Given the description of an element on the screen output the (x, y) to click on. 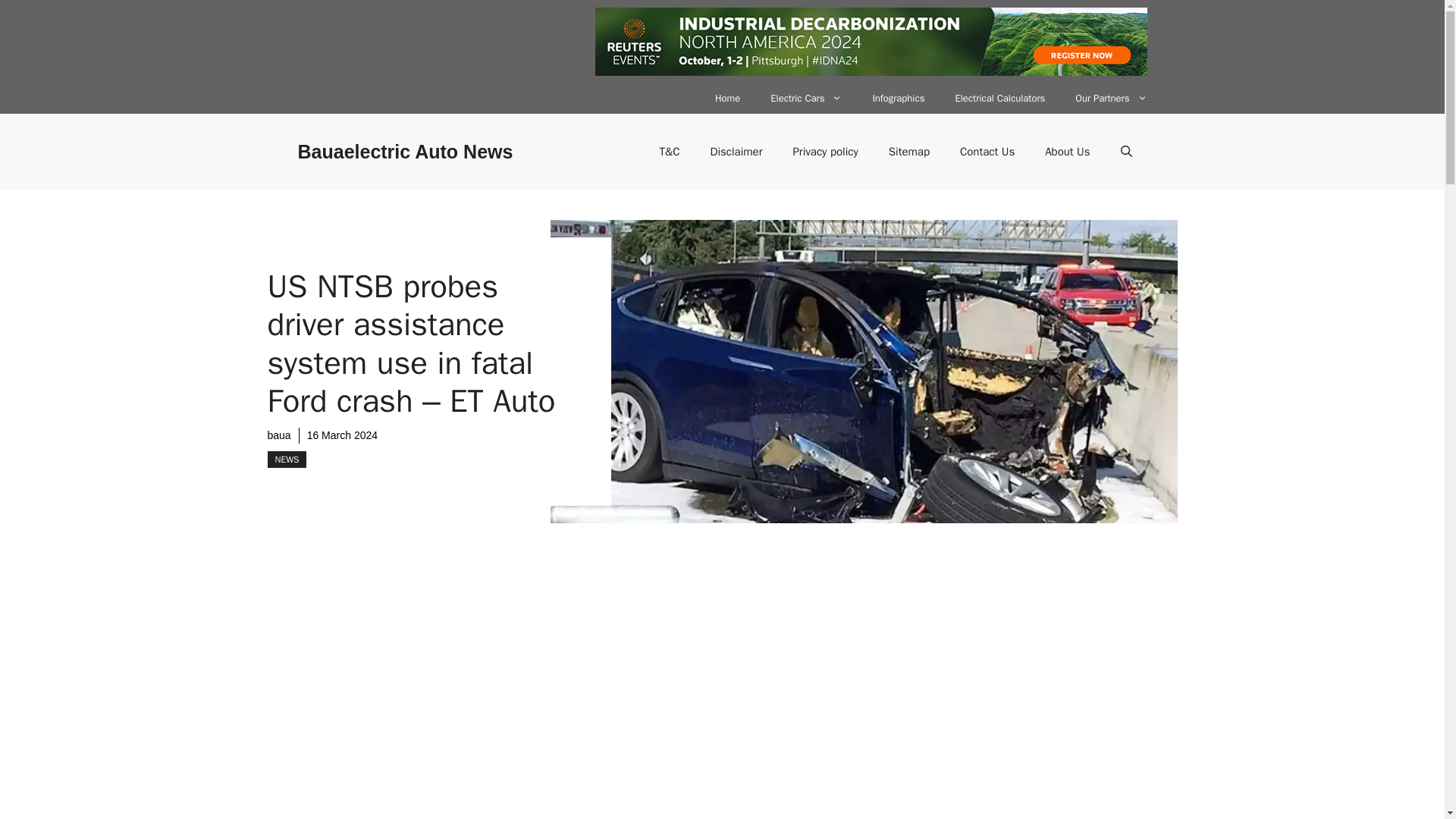
Advertisement (600, 703)
Our Partners (1110, 98)
Home (727, 98)
Bauaelectric Auto News (404, 151)
Electric Cars (806, 98)
Electrical Calculators (999, 98)
Disclaimer (736, 151)
Sitemap (908, 151)
Privacy policy (824, 151)
Infographics (898, 98)
